Given the description of an element on the screen output the (x, y) to click on. 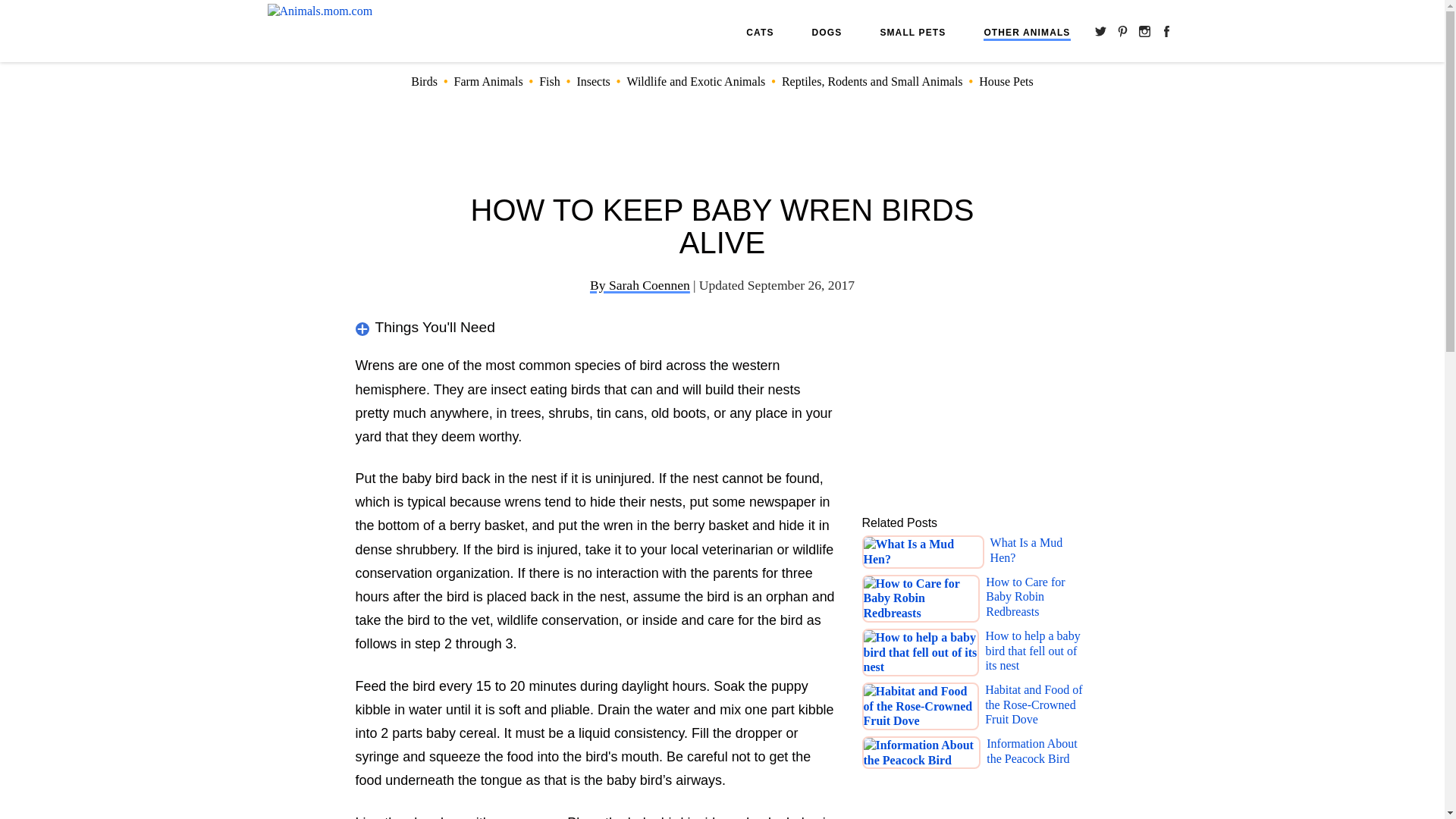
Birds (424, 81)
How to Care for Baby Robin Redbreasts (1037, 598)
SMALL PETS (911, 32)
Wildlife and Exotic Animals (695, 81)
House Pets (1005, 81)
Fish (549, 81)
DOGS (827, 32)
Farm Animals (487, 81)
CATS (759, 32)
Reptiles, Rodents and Small Animals (871, 81)
Insects (593, 81)
OTHER ANIMALS (1027, 33)
What Is a Mud Hen? (1039, 551)
